Given the description of an element on the screen output the (x, y) to click on. 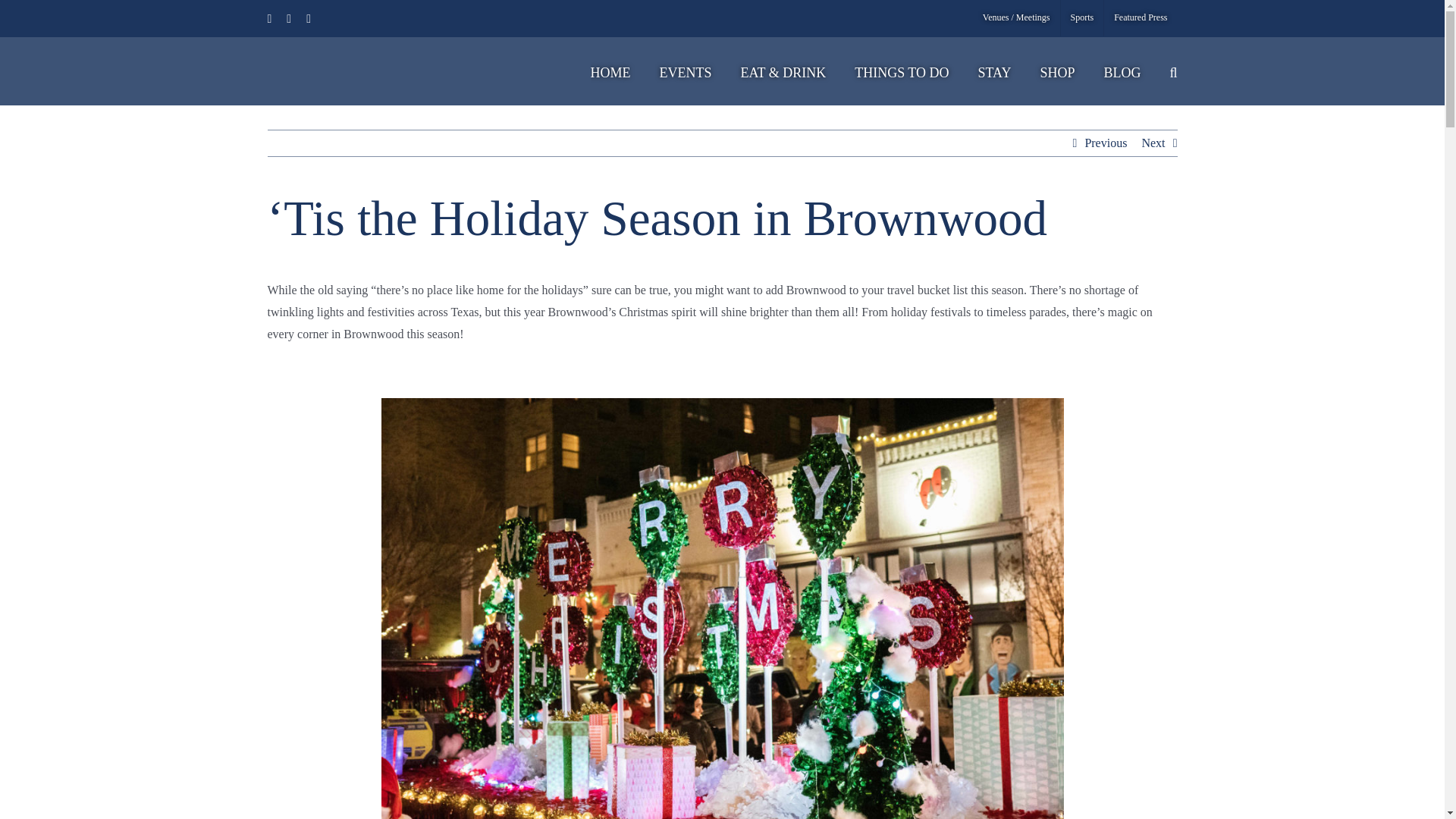
Sports (1081, 18)
Next (1152, 143)
THINGS TO DO (901, 72)
Featured Press (1139, 18)
Previous (1105, 143)
